Given the description of an element on the screen output the (x, y) to click on. 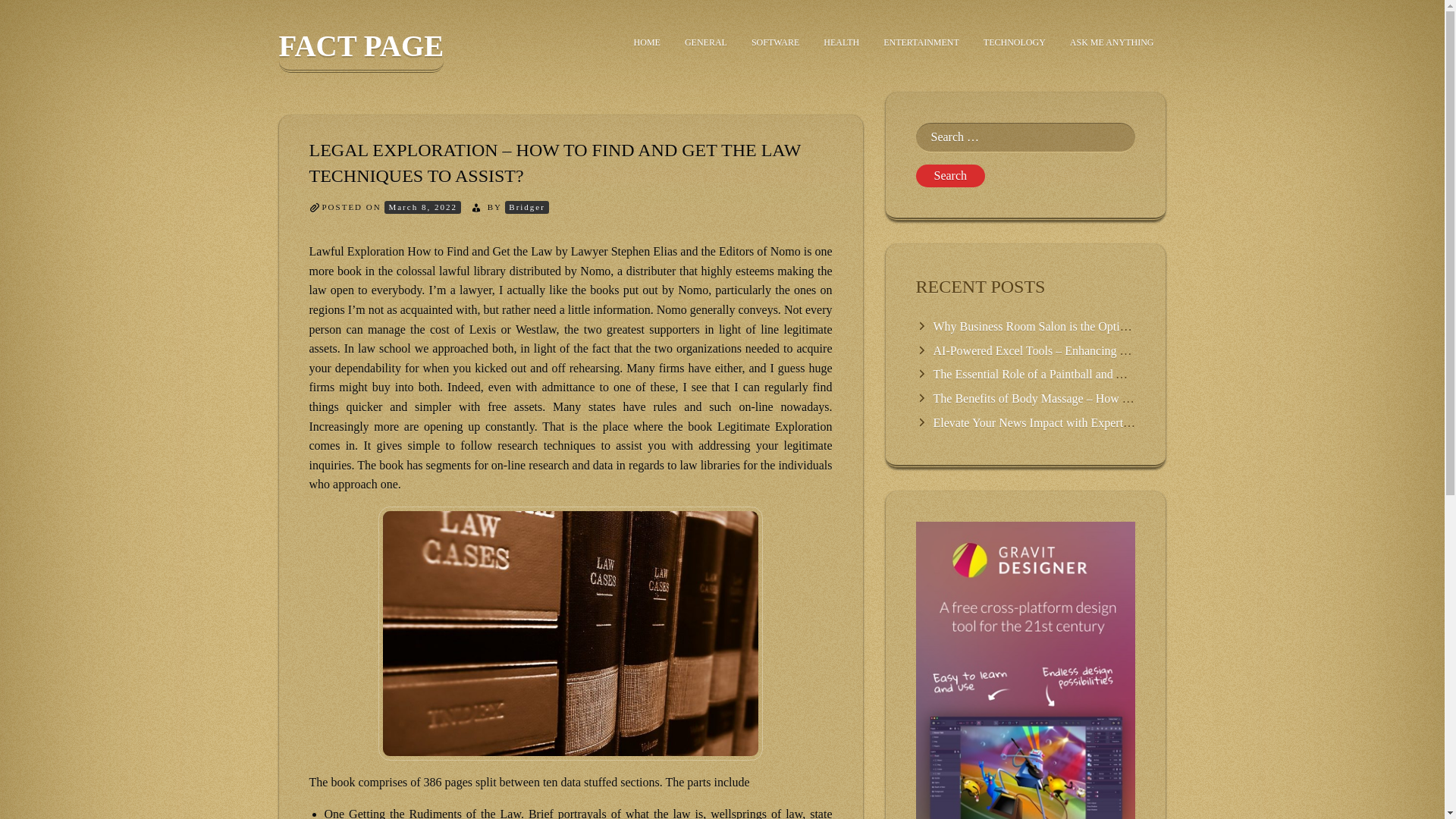
TECHNOLOGY (1014, 42)
HOME (646, 42)
SOFTWARE (774, 42)
HEALTH (840, 42)
ENTERTAINMENT (920, 42)
Search (950, 175)
Bridger (526, 206)
ASK ME ANYTHING (1112, 42)
March 8, 2022 (422, 206)
